Given the description of an element on the screen output the (x, y) to click on. 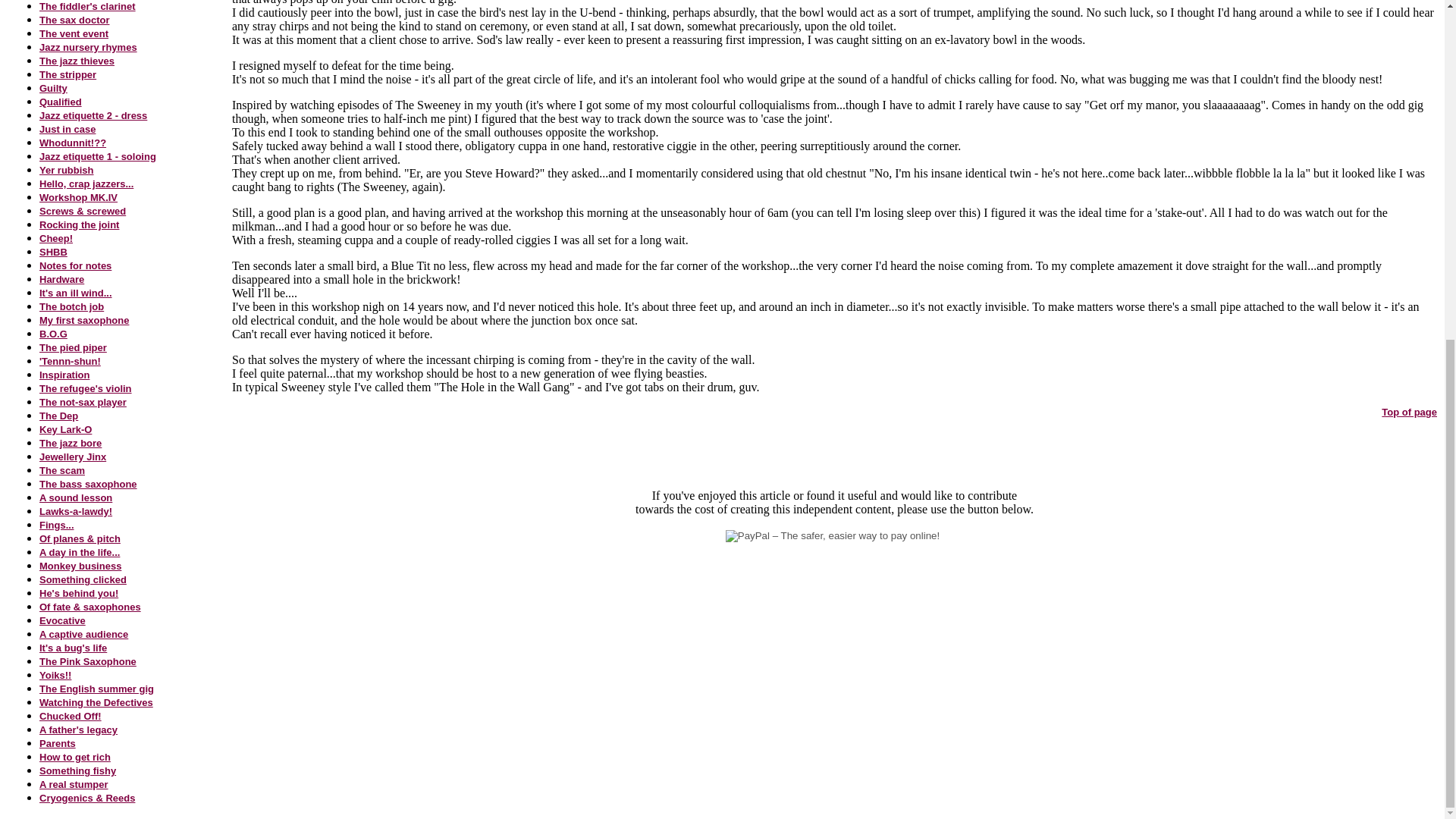
Jazz nursery rhymes (87, 46)
The fiddler's clarinet (87, 6)
The vent event (73, 32)
The sax doctor (74, 19)
